Given the description of an element on the screen output the (x, y) to click on. 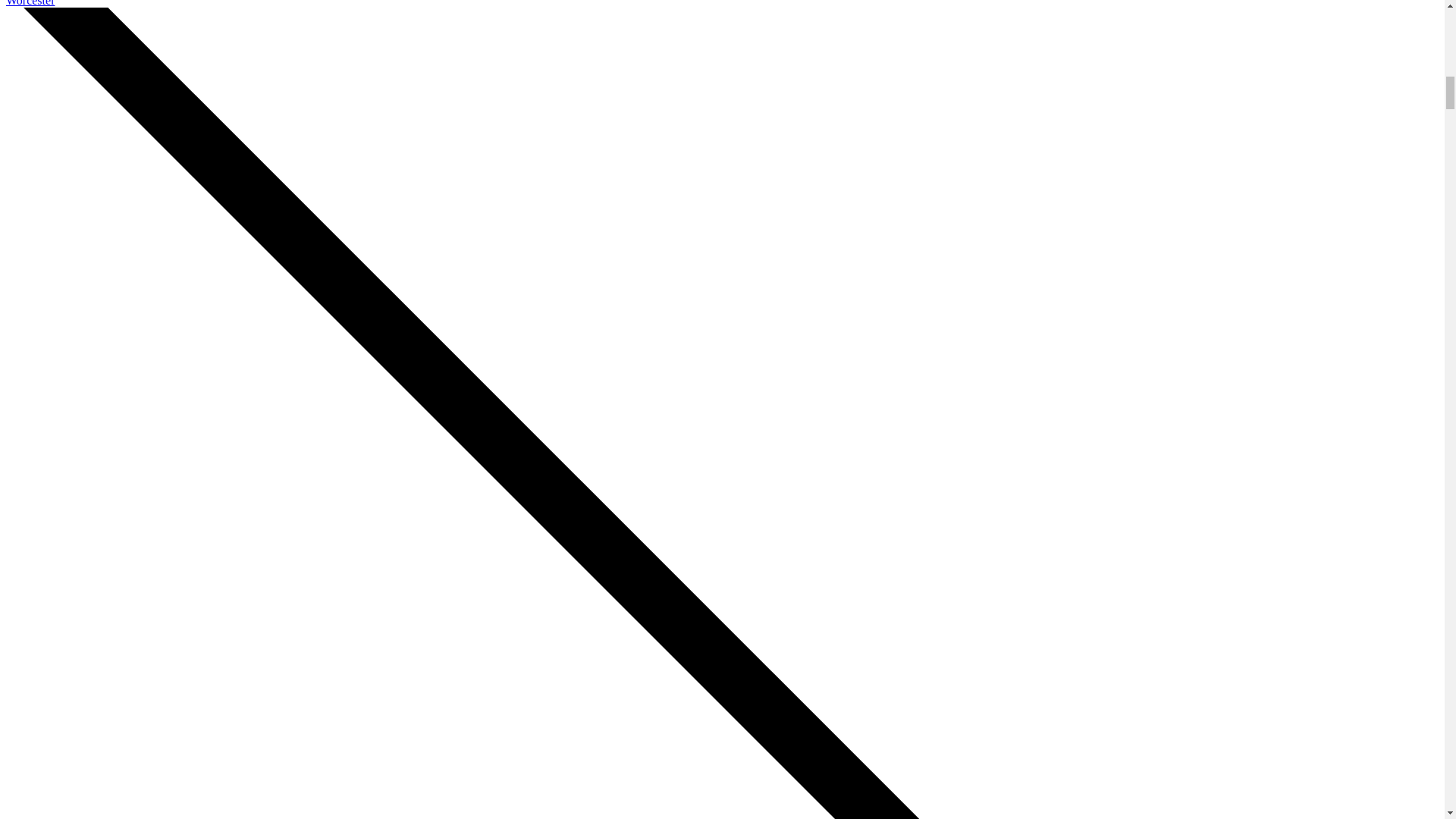
Worcester (30, 3)
